Given the description of an element on the screen output the (x, y) to click on. 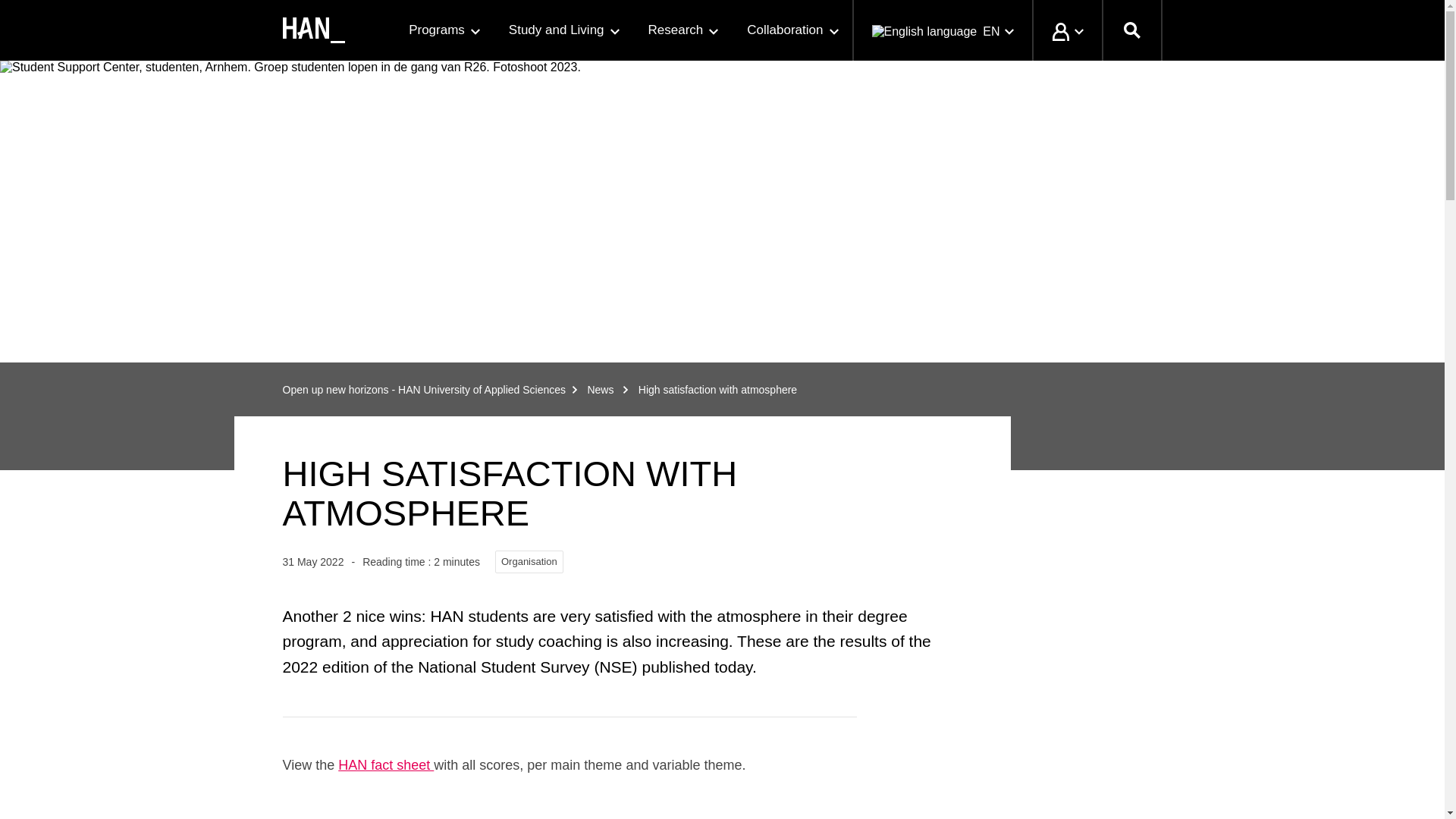
EN (941, 30)
Ga naar www.han.nl (312, 30)
Research (682, 30)
Programs (443, 30)
Study and Living (563, 30)
Inloggen (1065, 30)
Submenu (475, 31)
Submenu (833, 31)
Submenu (713, 31)
Collaboration (791, 30)
